Given the description of an element on the screen output the (x, y) to click on. 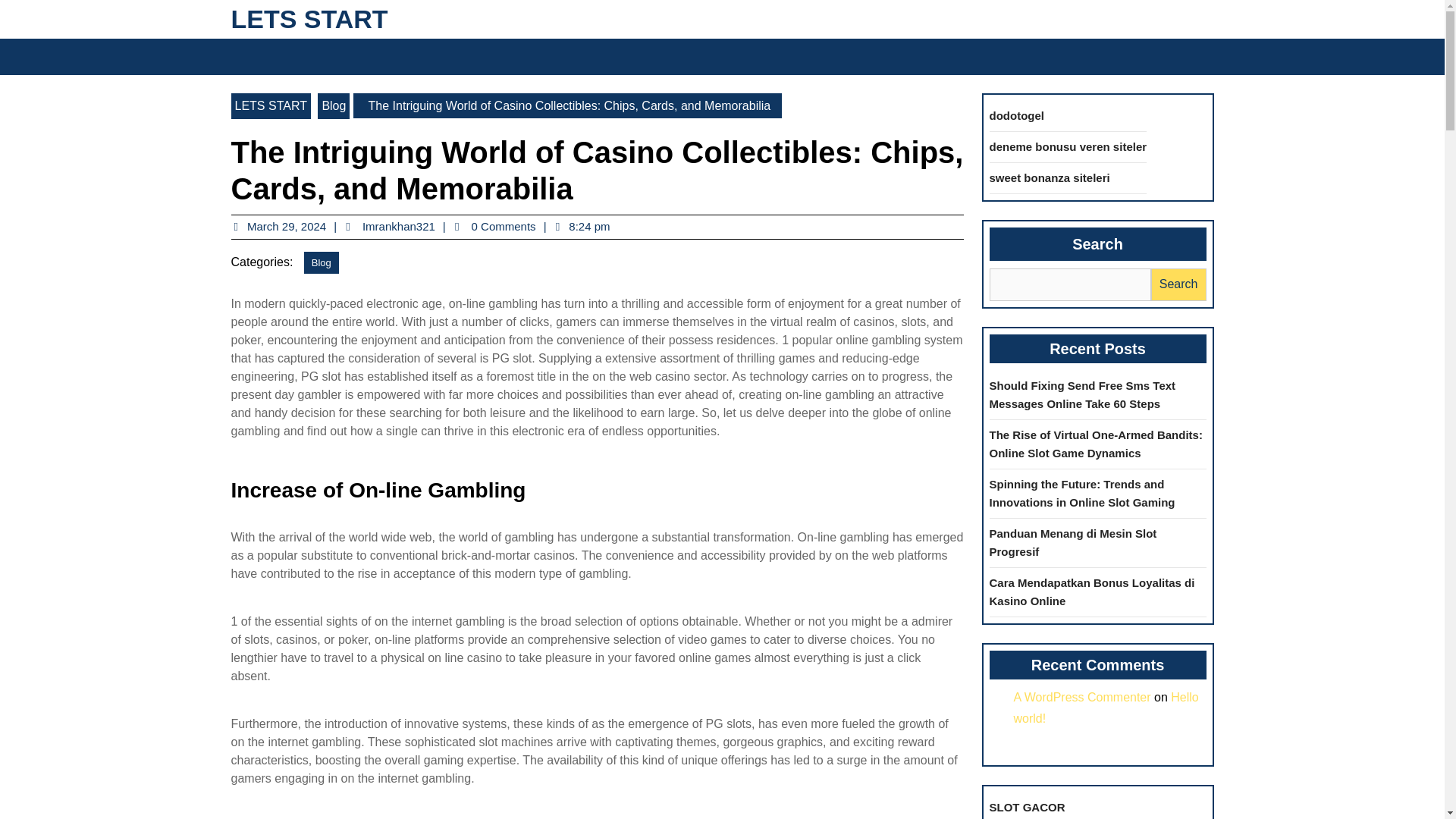
Blog (321, 262)
Hello world! (1105, 707)
LETS START (308, 18)
Search (1033, 56)
Panduan Menang di Mesin Slot Progresif (1072, 541)
A WordPress Commenter (1081, 696)
sweet bonanza siteleri (1048, 177)
SLOT GACOR (1026, 807)
